Given the description of an element on the screen output the (x, y) to click on. 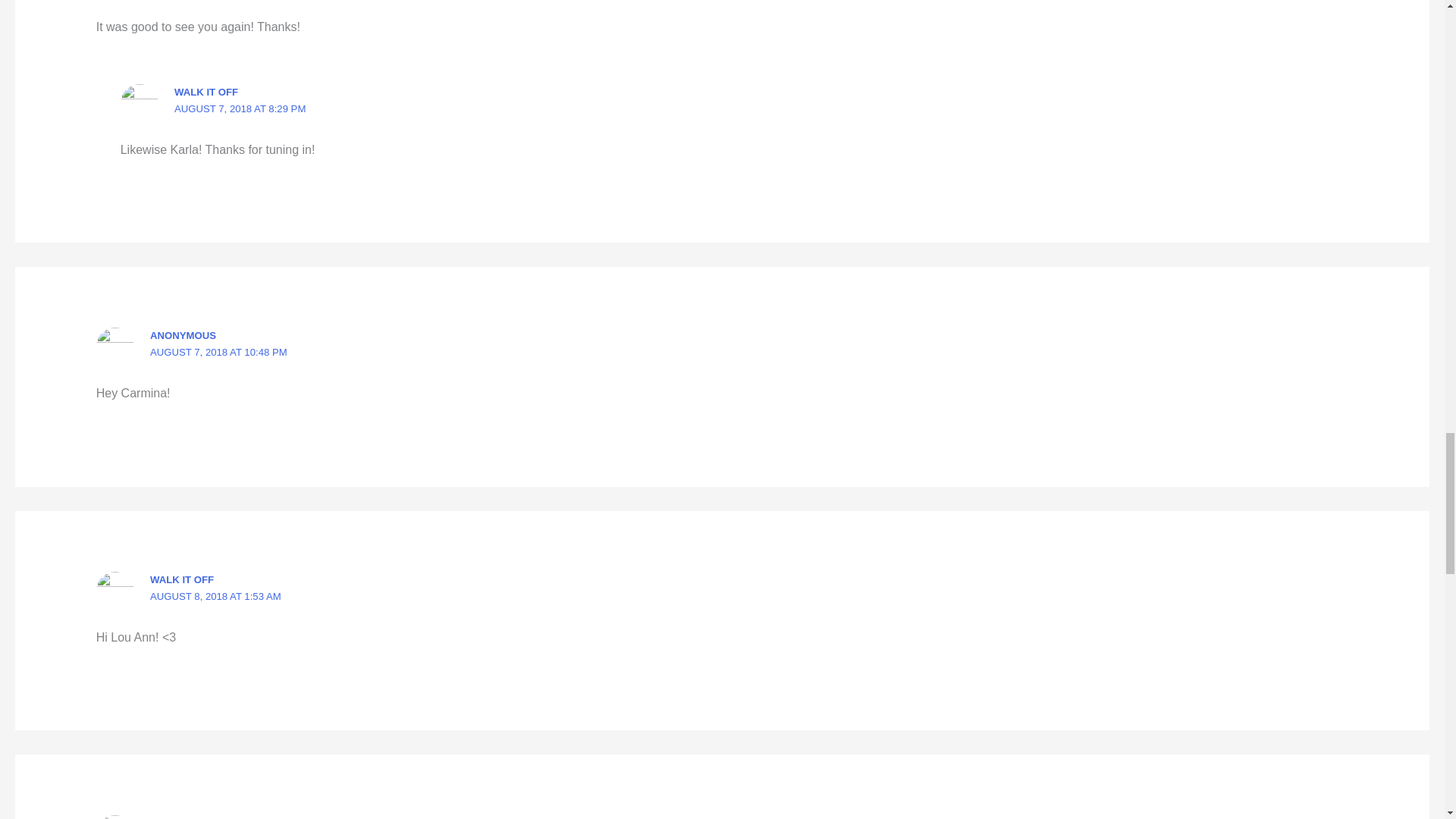
WALK IT OFF (181, 579)
ANONYMOUS (182, 335)
AUGUST 7, 2018 AT 8:29 PM (239, 108)
AUGUST 8, 2018 AT 1:53 AM (215, 595)
AUGUST 7, 2018 AT 10:48 PM (217, 351)
WALK IT OFF (206, 91)
